Given the description of an element on the screen output the (x, y) to click on. 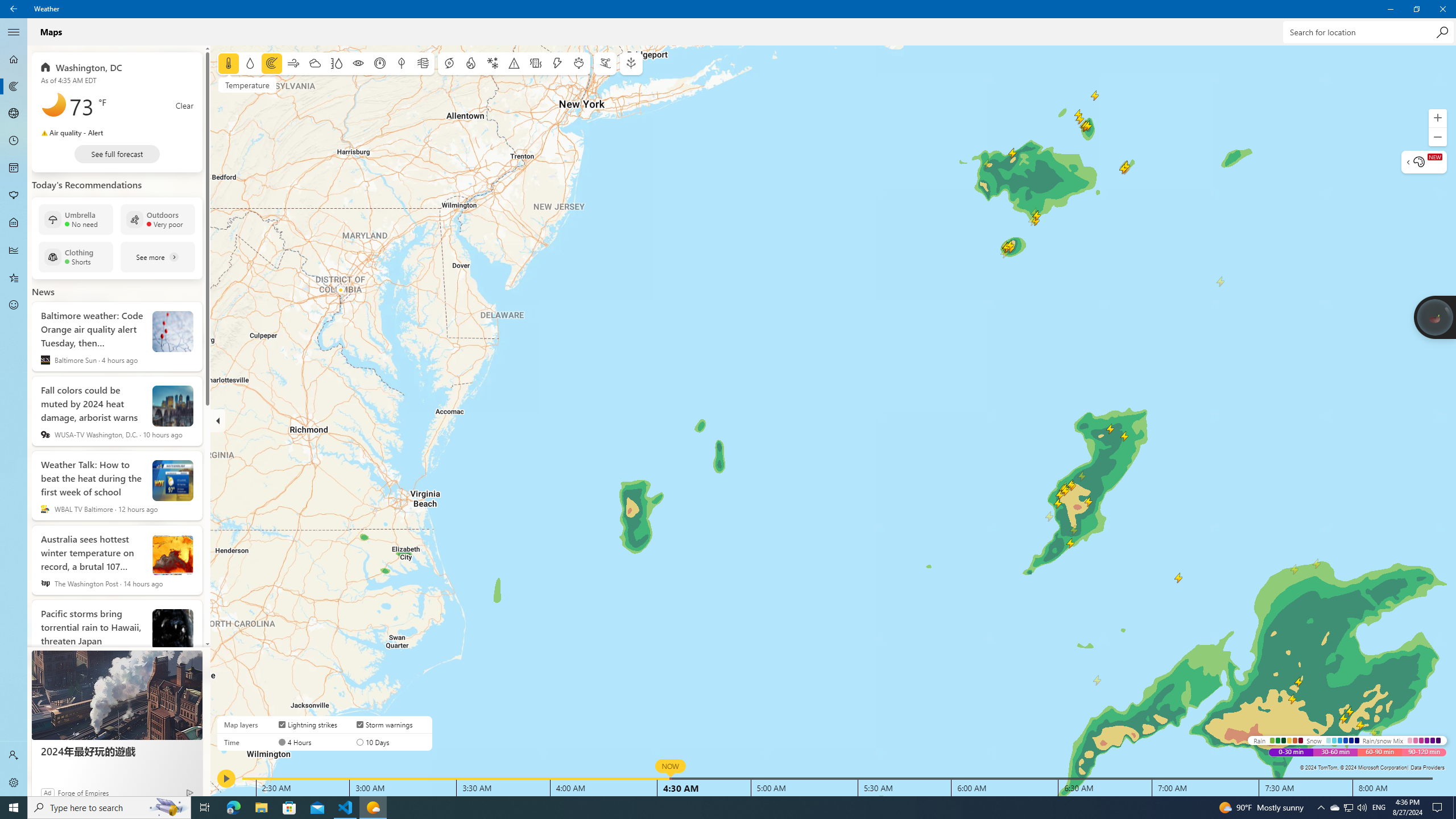
Historical Weather - Not Selected (13, 249)
Show desktop (1454, 807)
Action Center, No new notifications (1439, 807)
Life - Not Selected (13, 222)
Restore Weather (1416, 9)
Hourly Forecast - Not Selected (13, 140)
Notification Chevron (1320, 807)
3D Maps - Not Selected (13, 113)
Maps - Not Selected (13, 85)
3D Maps - Not Selected (13, 113)
File Explorer (261, 807)
Weather - 1 running window (373, 807)
Task View (204, 807)
